Given the description of an element on the screen output the (x, y) to click on. 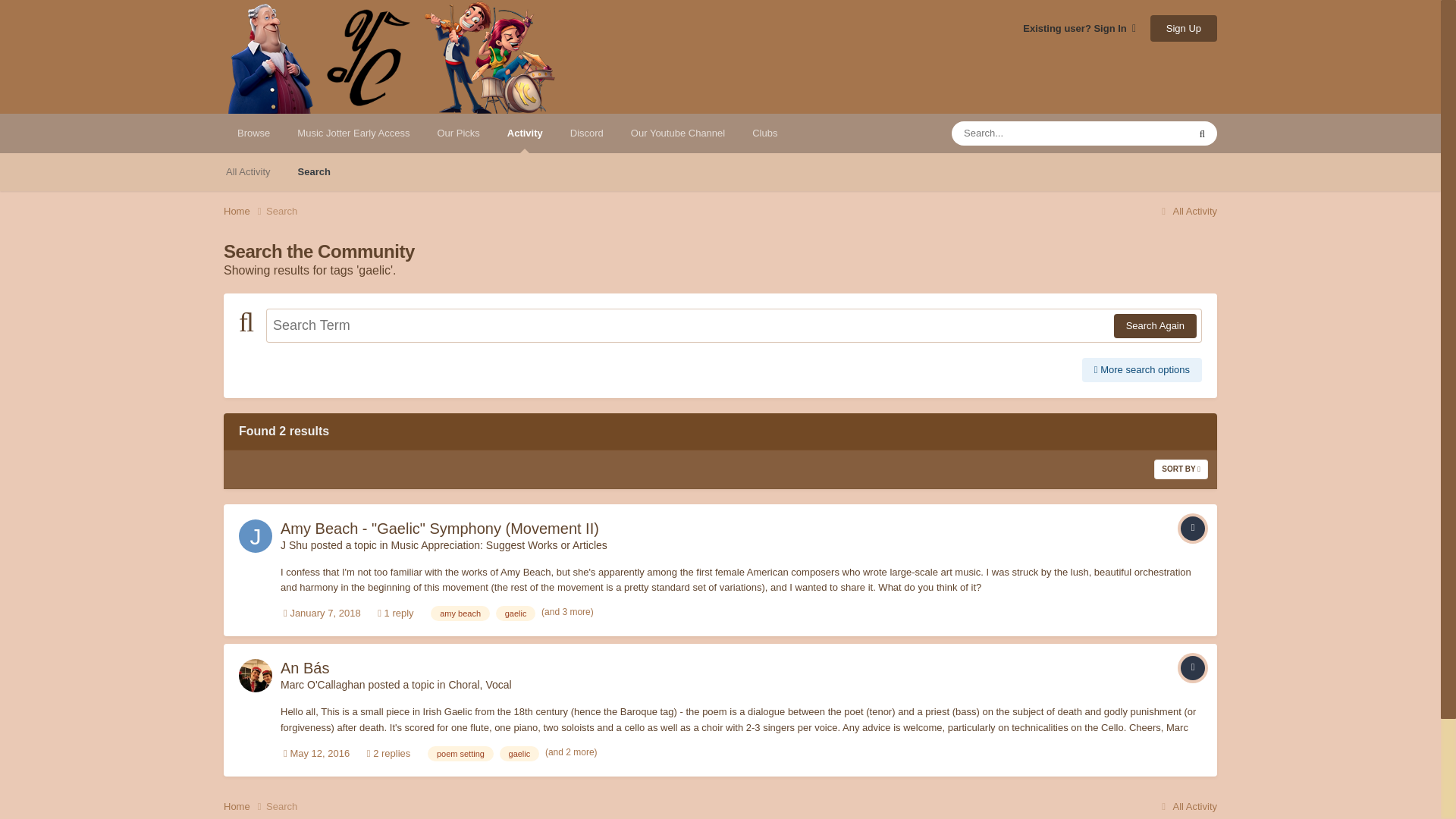
Sign Up (1183, 28)
Go to J Shu's profile (294, 544)
Our Youtube Channel (677, 133)
Go to Marc O'Callaghan's profile (255, 675)
All Activity (1187, 211)
Topic (1192, 528)
Activity (524, 133)
Topic (1192, 668)
Find other content tagged with 'poem setting' (460, 753)
Our Picks (458, 133)
Discord (586, 133)
Search (313, 171)
Home (245, 211)
Music Jotter Early Access (353, 133)
Go to J Shu's profile (255, 535)
